Given the description of an element on the screen output the (x, y) to click on. 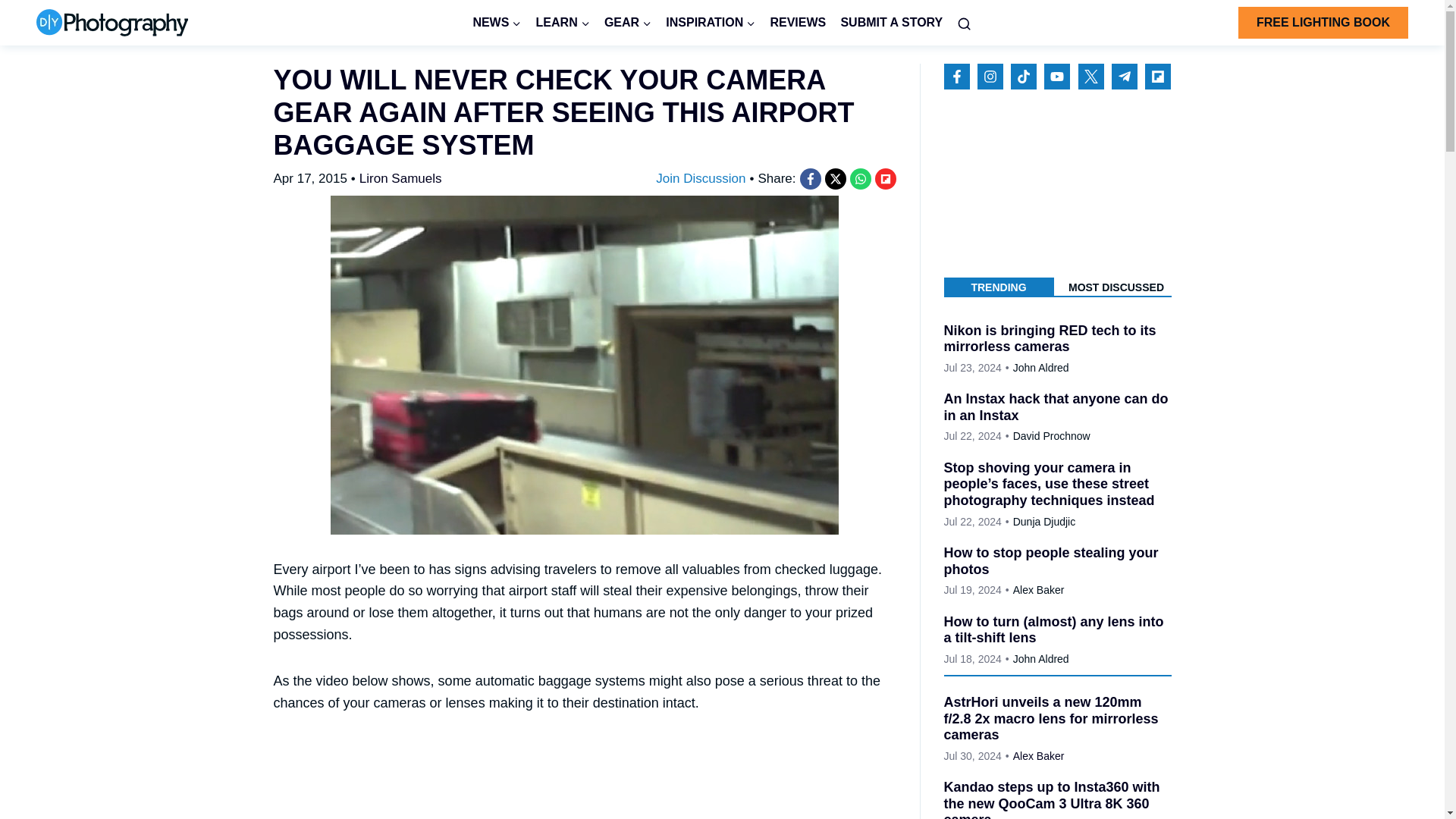
NEWS (496, 22)
